Given the description of an element on the screen output the (x, y) to click on. 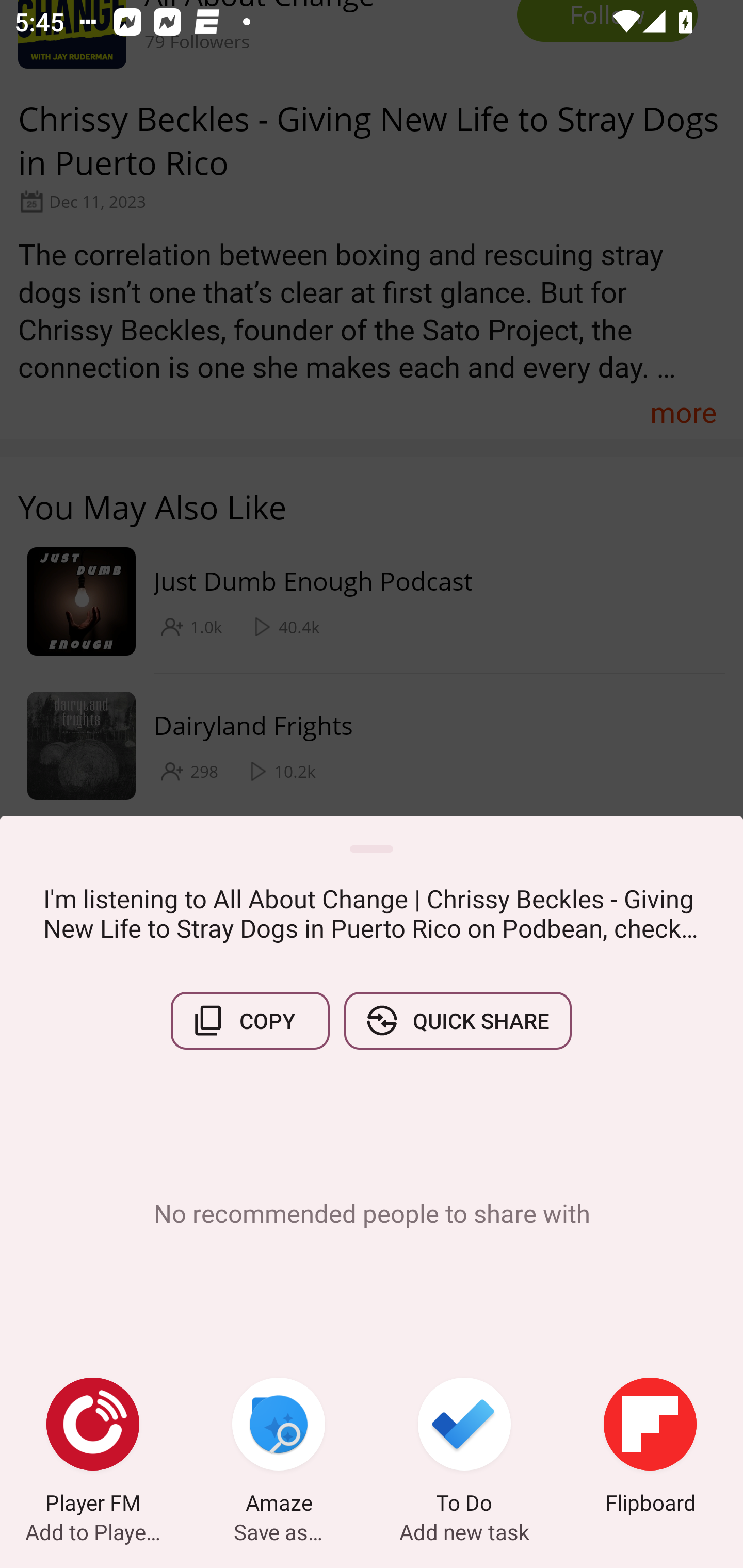
COPY (249, 1020)
QUICK SHARE (457, 1020)
Player FM Add to Player FM (92, 1448)
Amaze Save as… (278, 1448)
To Do Add new task (464, 1448)
Flipboard (650, 1448)
